Given the description of an element on the screen output the (x, y) to click on. 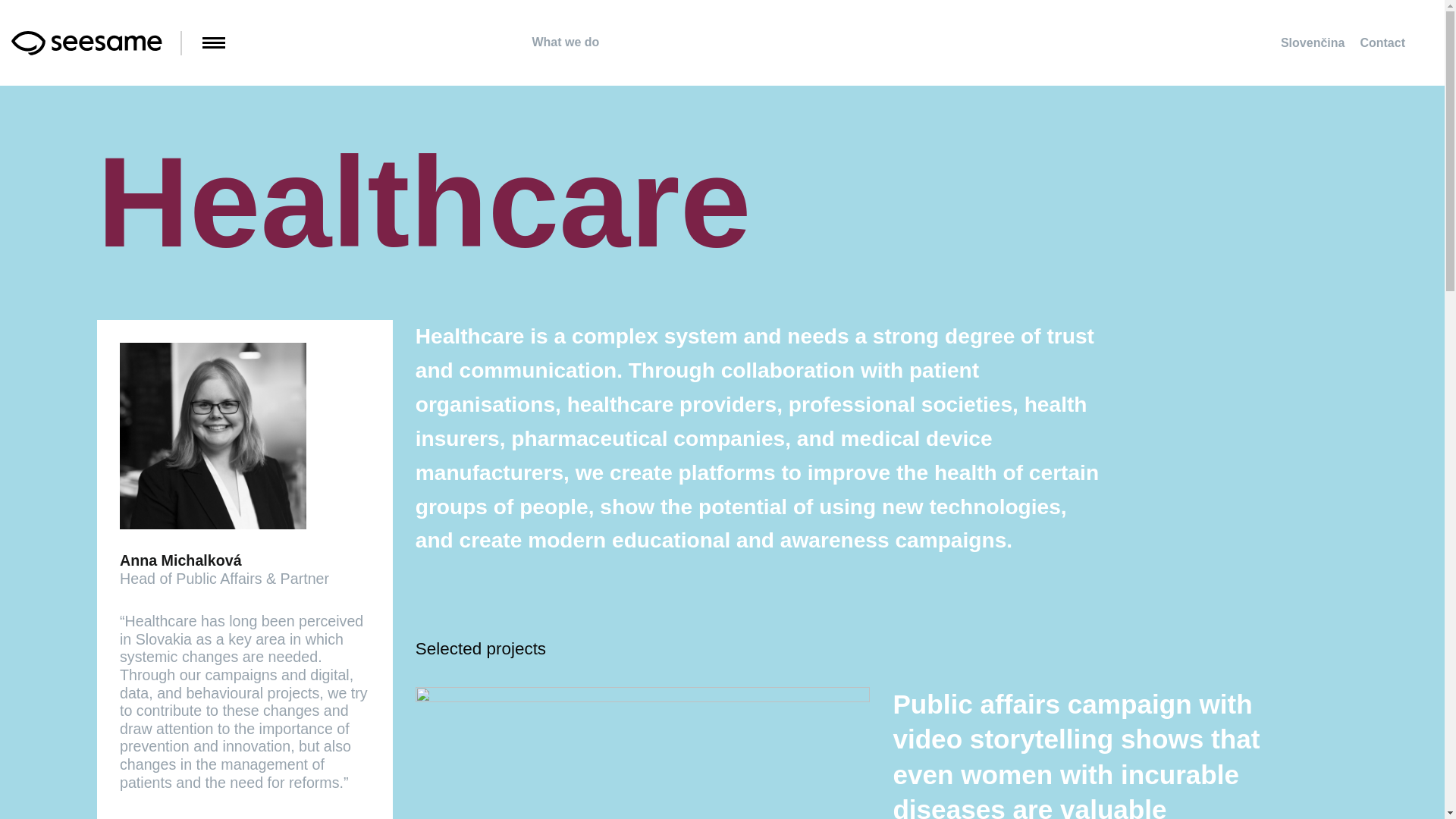
Contact (1382, 42)
What we do (553, 42)
